Given the description of an element on the screen output the (x, y) to click on. 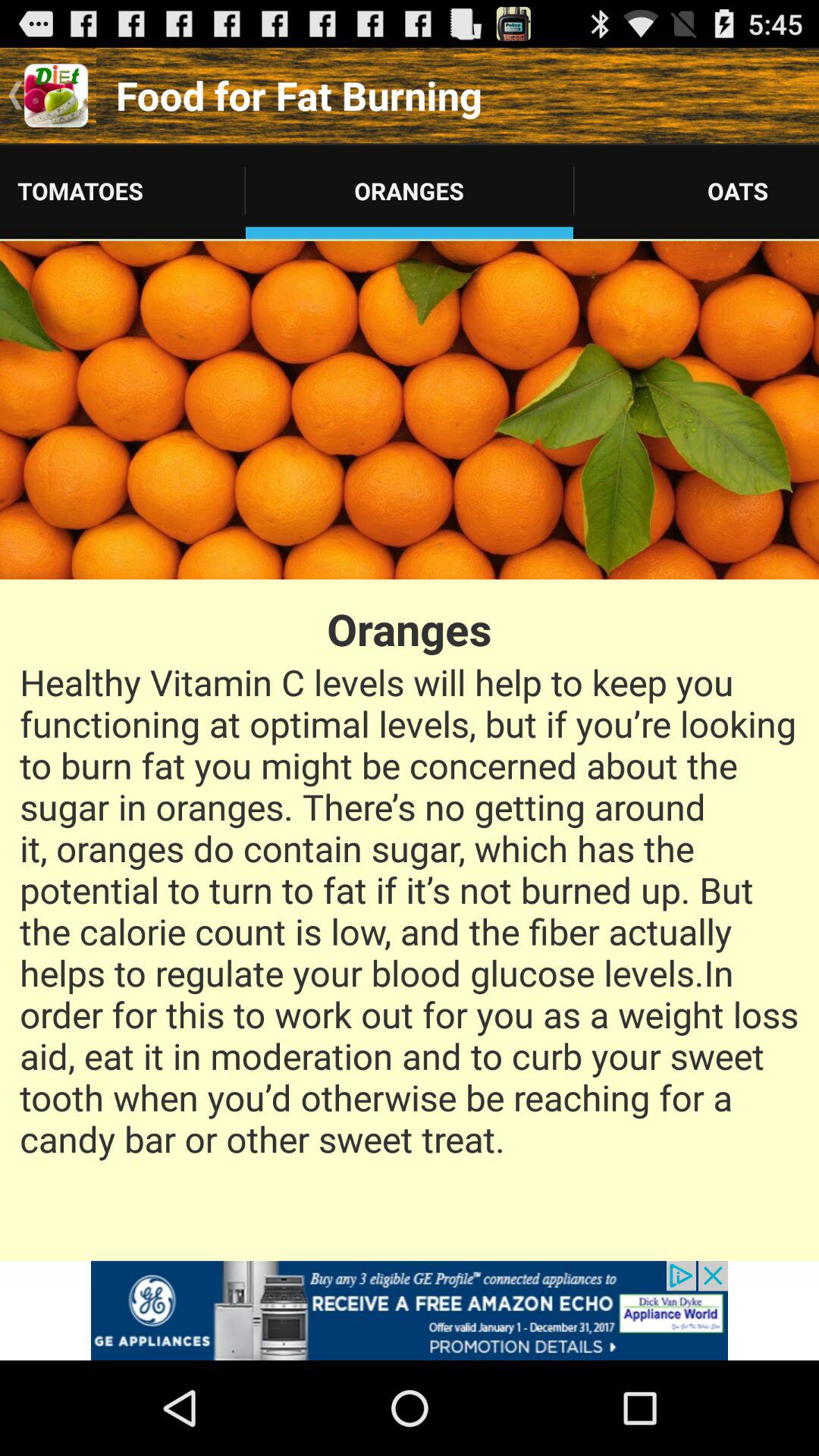
go to the advertisement page (409, 1310)
